Given the description of an element on the screen output the (x, y) to click on. 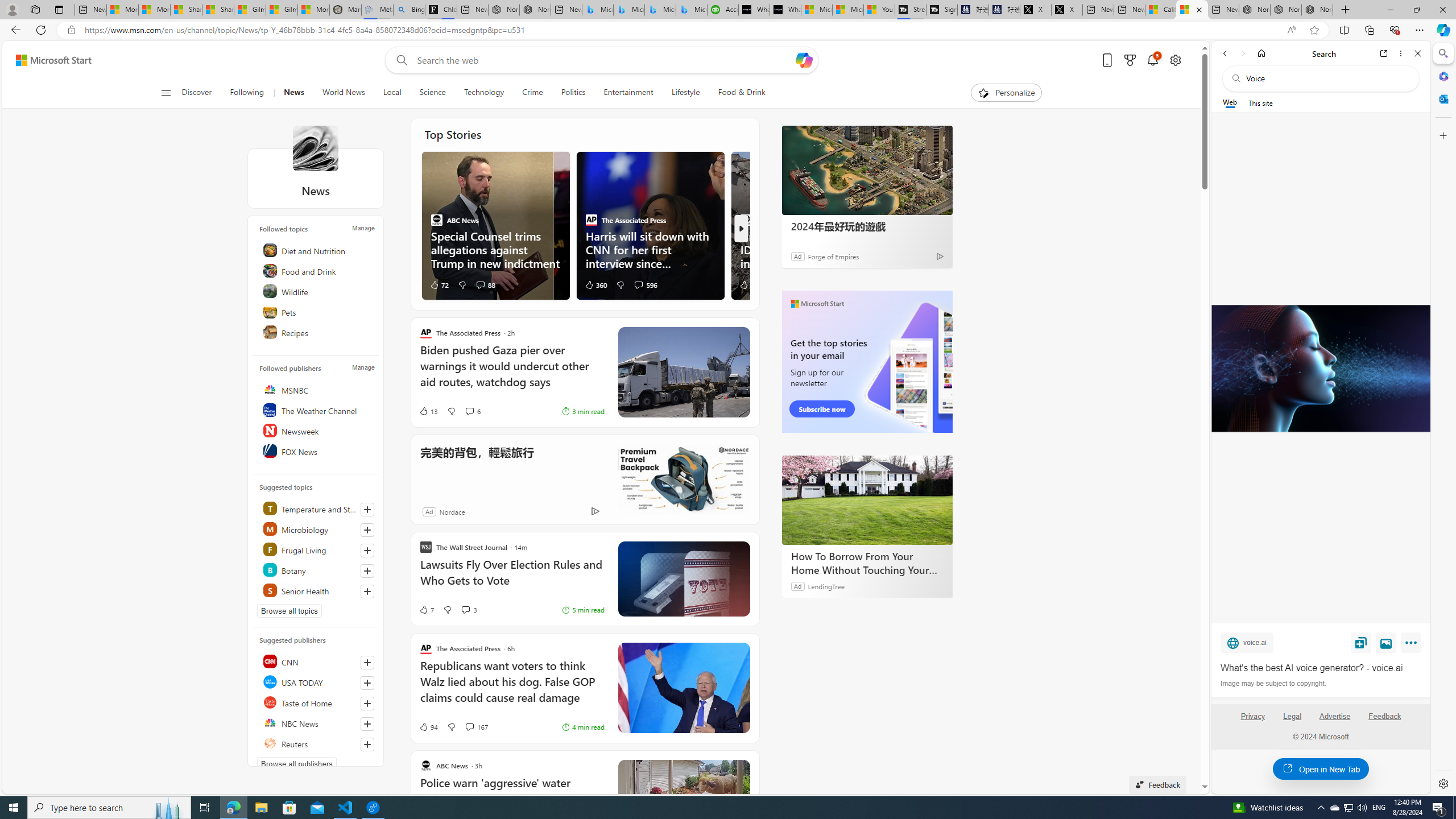
Technology (483, 92)
Dislike (451, 726)
Microsoft 365 (1442, 76)
Wildlife (317, 290)
What's the best AI voice generator? - voice.ai (1320, 368)
View comments 6 Comment (469, 411)
Ad Choice (595, 511)
Food & Drink (741, 92)
What's the best AI voice generator? - voice.ai (1320, 667)
